Given the description of an element on the screen output the (x, y) to click on. 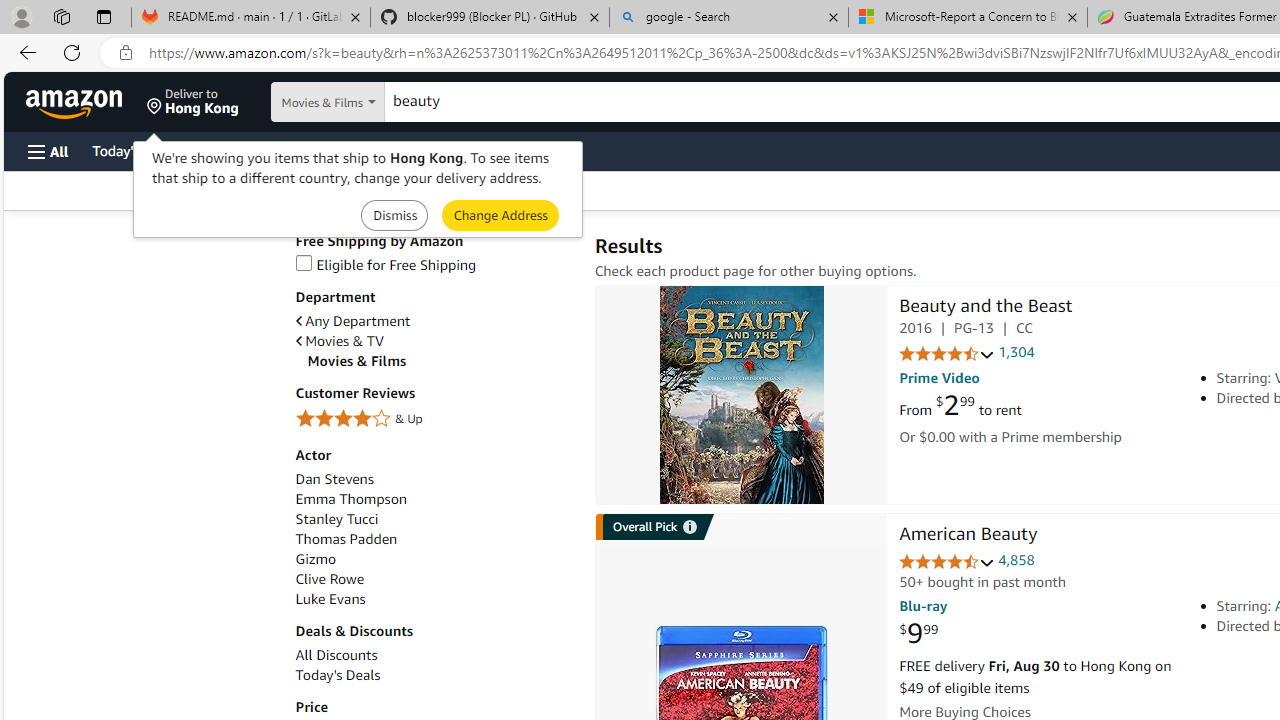
Gift Cards (442, 150)
Movies & TV (339, 341)
Beauty and the Beast (741, 394)
Submit (499, 214)
Sell (509, 150)
Eligible for Free Shipping (434, 265)
All Discounts (434, 655)
Clive Rowe (329, 579)
Dan Stevens (333, 479)
1,304 (1016, 352)
Today's Deals (337, 675)
Any Department (434, 321)
